Given the description of an element on the screen output the (x, y) to click on. 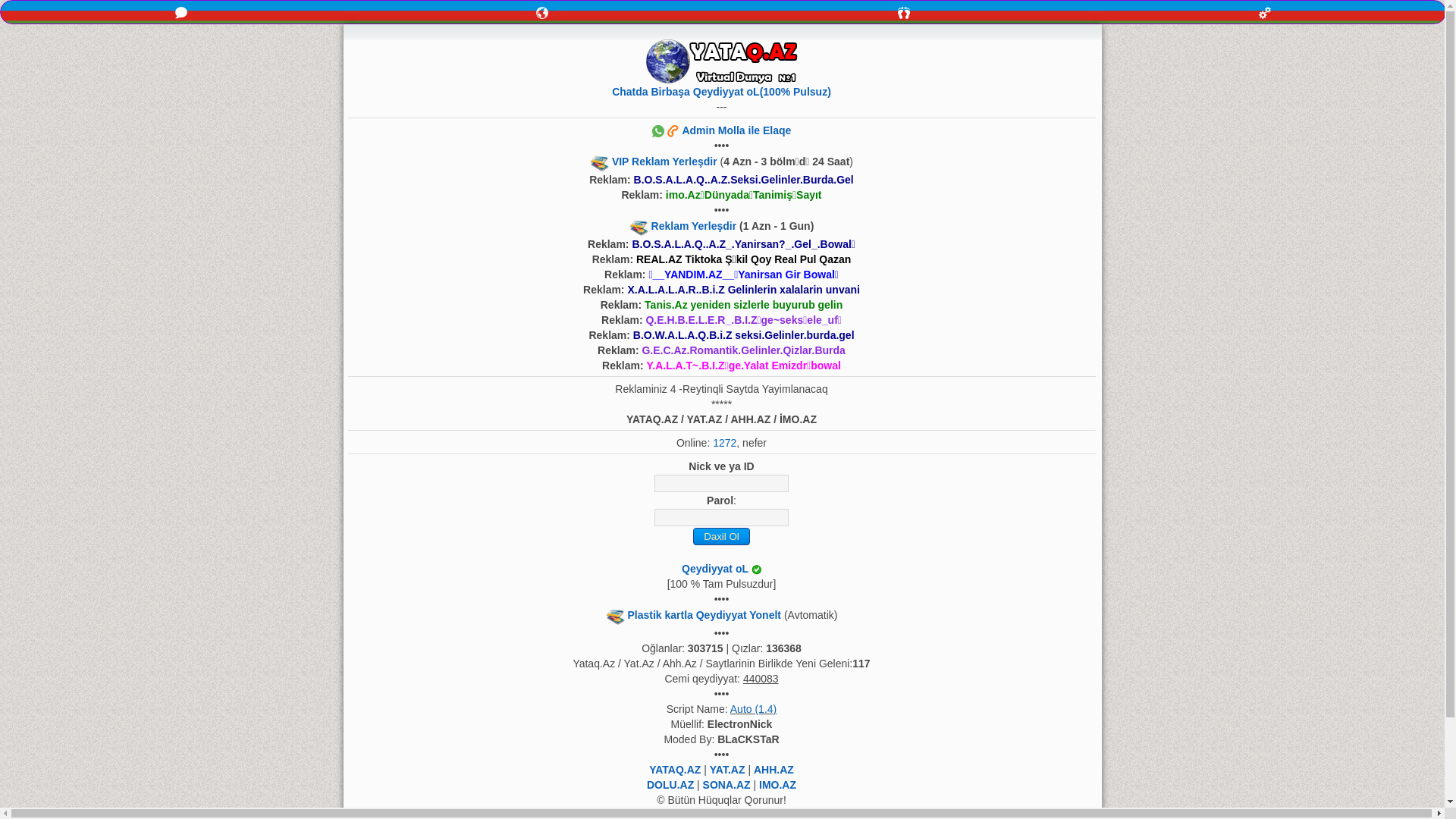
Tanis.Az yeniden sizlerle buyurub gelin Element type: text (743, 304)
nick Element type: hover (721, 483)
B.O.W.A.L.A.Q.B.i.Z seksi.Gelinler.burda.gel Element type: text (743, 335)
Qeydiyyat oL Element type: text (714, 568)
Mesajlar Element type: hover (180, 11)
YAT.AZ Element type: text (727, 769)
DOLU.AZ Element type: text (669, 784)
YATAQ.AZ Element type: text (674, 769)
Bildirisler Element type: hover (541, 11)
Plastik kartla Qeydiyyat Yonelt Element type: text (704, 614)
AHH.AZ Element type: text (773, 769)
Auto (1.4) Element type: text (753, 708)
Admin Molla ile Elaqe Element type: text (721, 130)
IMO.AZ Element type: text (777, 784)
Parol Element type: hover (721, 517)
1272 Element type: text (724, 442)
SONA.AZ Element type: text (726, 784)
X.A.L.A.L.A.R..B.i.Z Gelinlerin xalalarin unvani Element type: text (743, 289)
Qurgular Element type: hover (1264, 11)
Daxil Ol Element type: text (721, 536)
B.O.S.A.L.A.Q..A.Z.Seksi.Gelinler.Burda.Gel Element type: text (743, 179)
G.E.C.Az.Romantik.Gelinler.Qizlar.Burda Element type: text (742, 350)
Qonaqlar Element type: hover (903, 11)
